Given the description of an element on the screen output the (x, y) to click on. 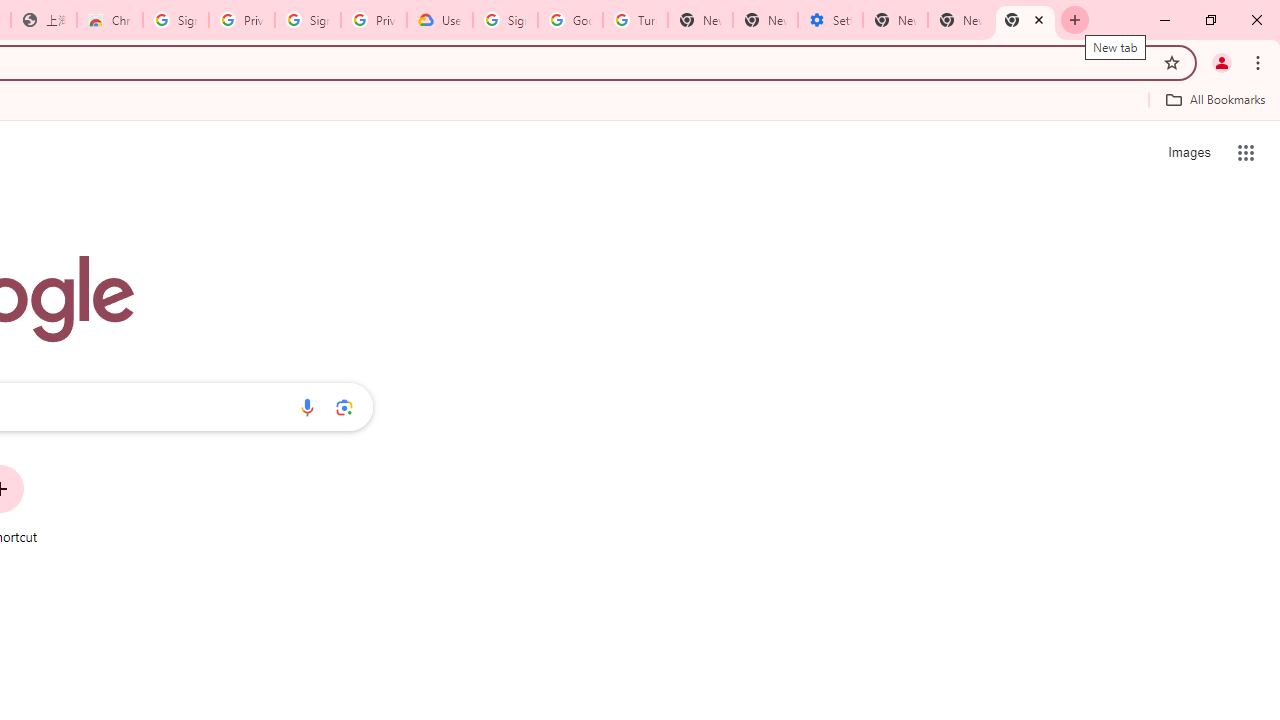
Search by voice (307, 407)
Chrome Web Store - Color themes by Chrome (109, 20)
New Tab (1025, 20)
Turn cookies on or off - Computer - Google Account Help (635, 20)
Settings - System (829, 20)
Google Account Help (569, 20)
All Bookmarks (1215, 99)
